Given the description of an element on the screen output the (x, y) to click on. 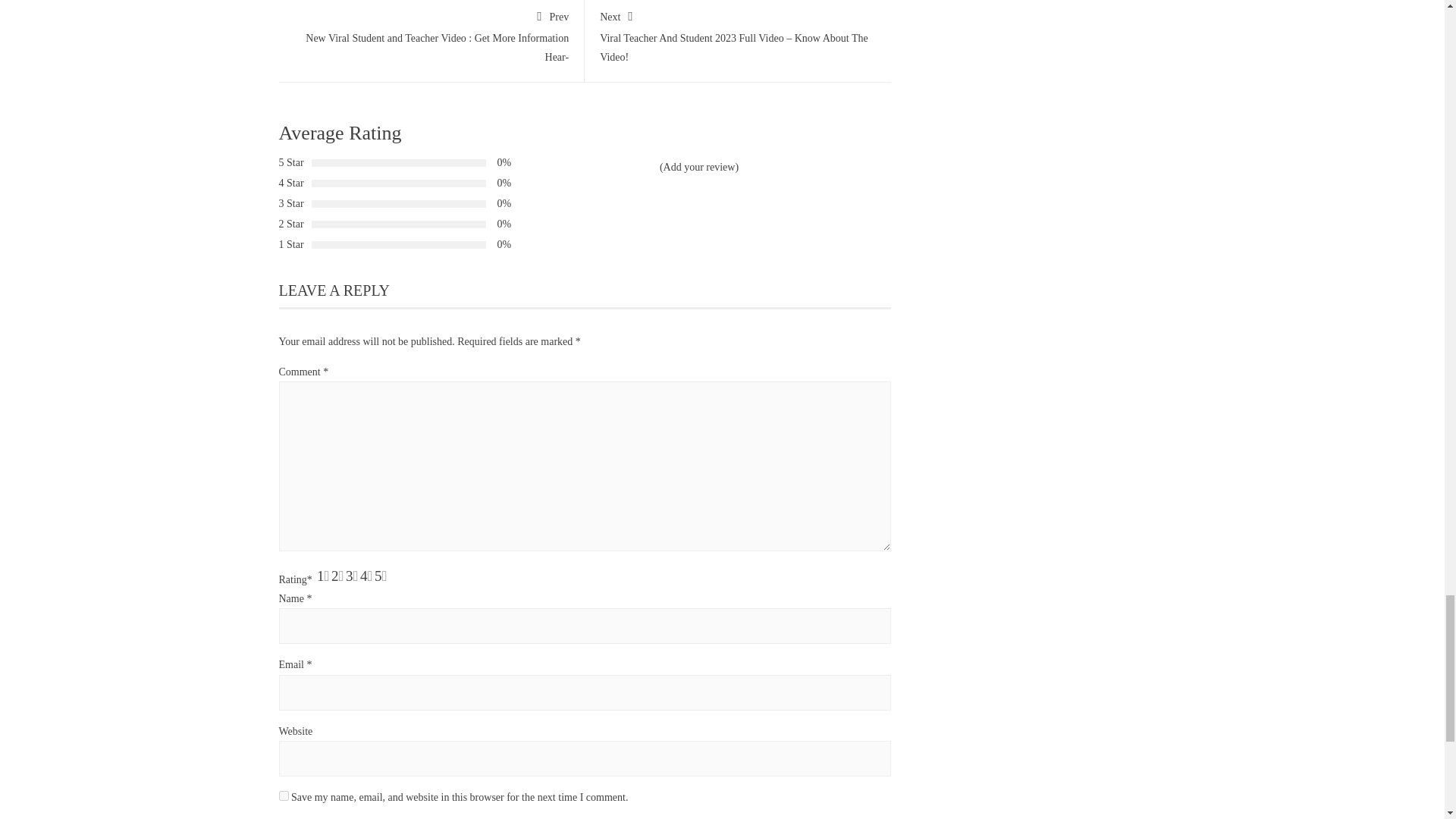
yes (283, 795)
